Given the description of an element on the screen output the (x, y) to click on. 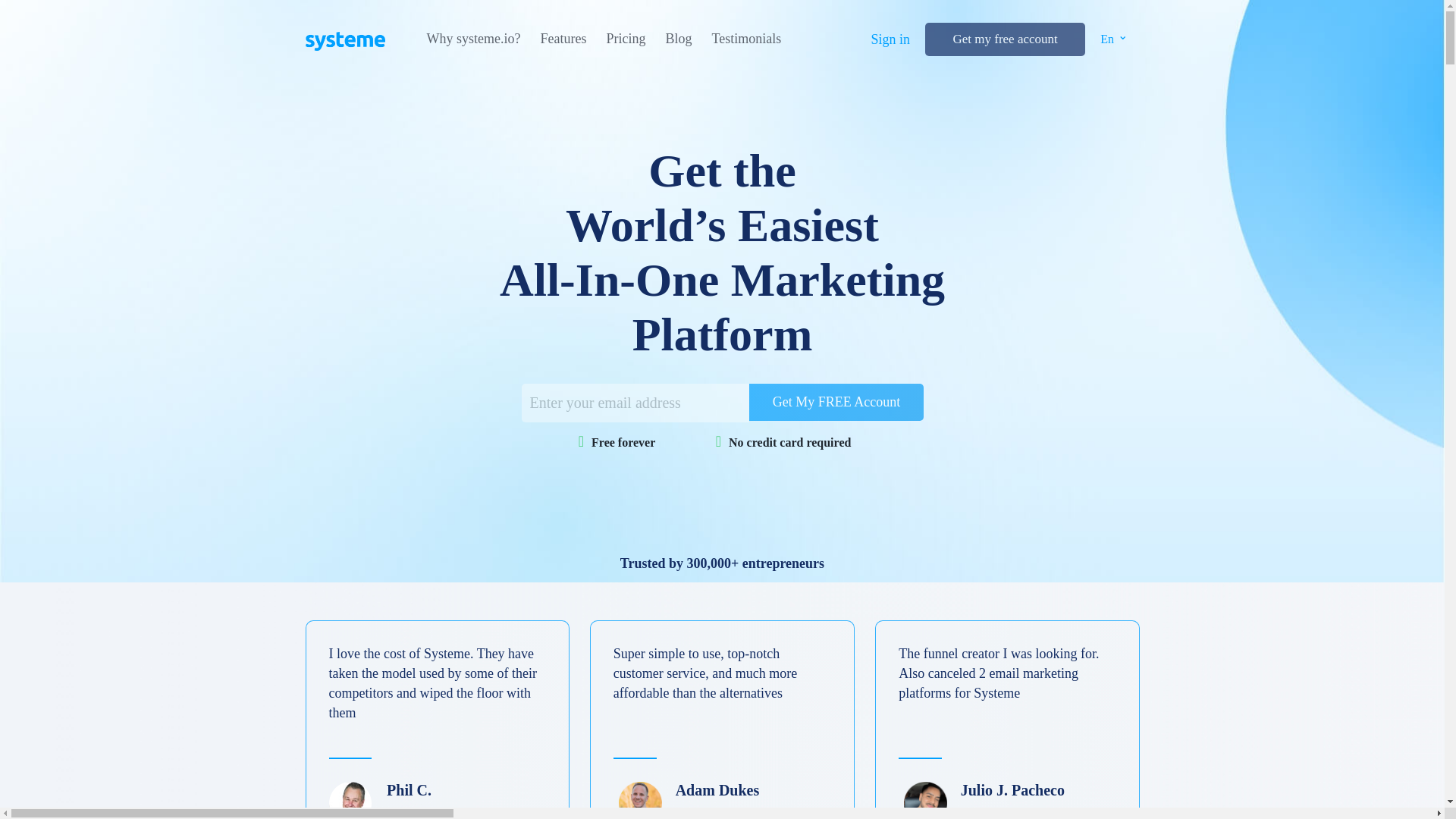
Why systeme.io? (472, 38)
Pricing (625, 38)
Sign in (890, 39)
Blog (678, 38)
Get my free account (1004, 39)
Features (563, 38)
Testimonials (745, 38)
